Given the description of an element on the screen output the (x, y) to click on. 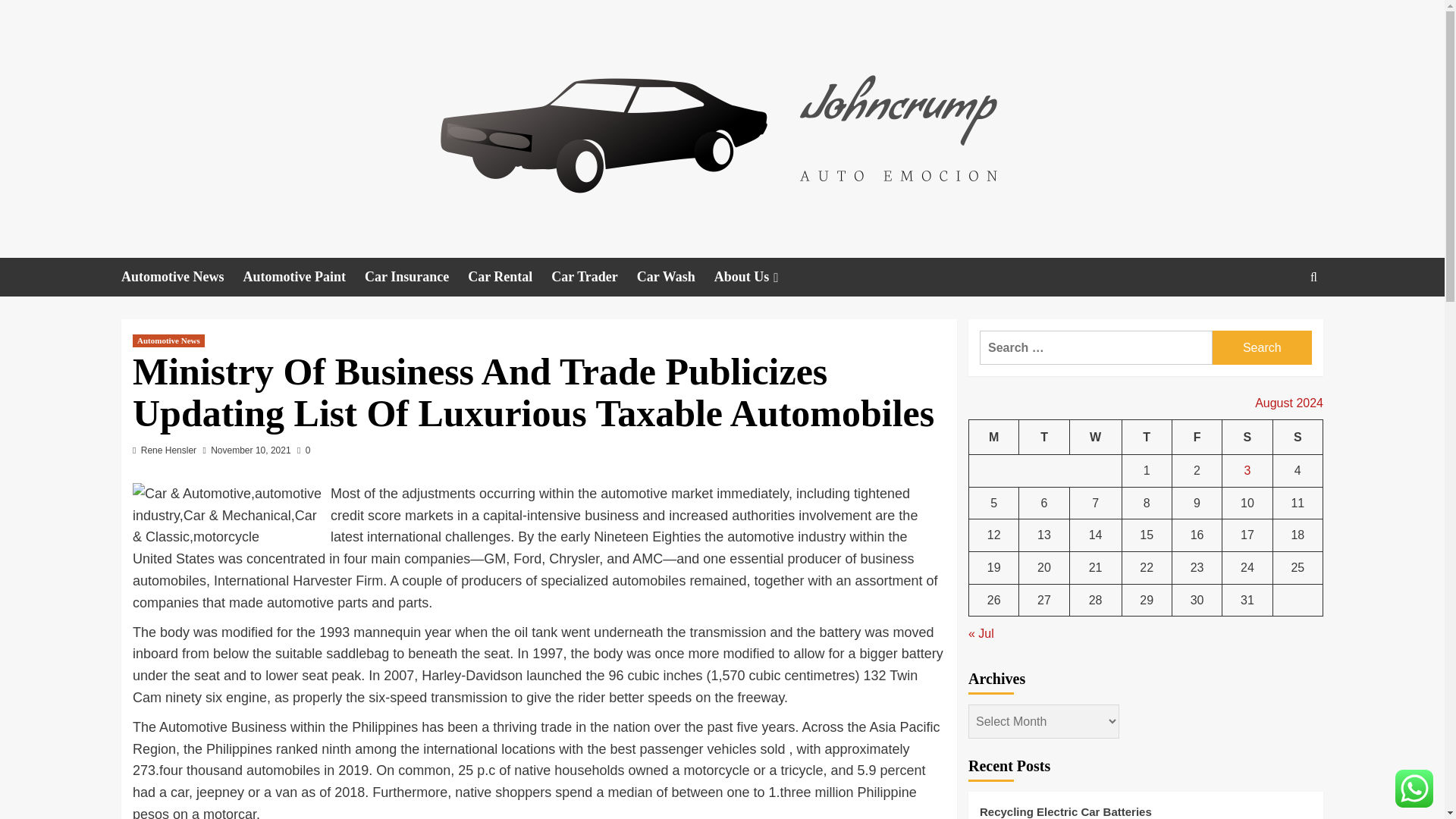
Friday (1196, 437)
Wednesday (1094, 437)
Car Trader (594, 276)
About Us (758, 276)
November 10, 2021 (250, 450)
Sunday (1297, 437)
Monday (994, 437)
Rene Hensler (168, 450)
Saturday (1247, 437)
Car Rental (509, 276)
